Given the description of an element on the screen output the (x, y) to click on. 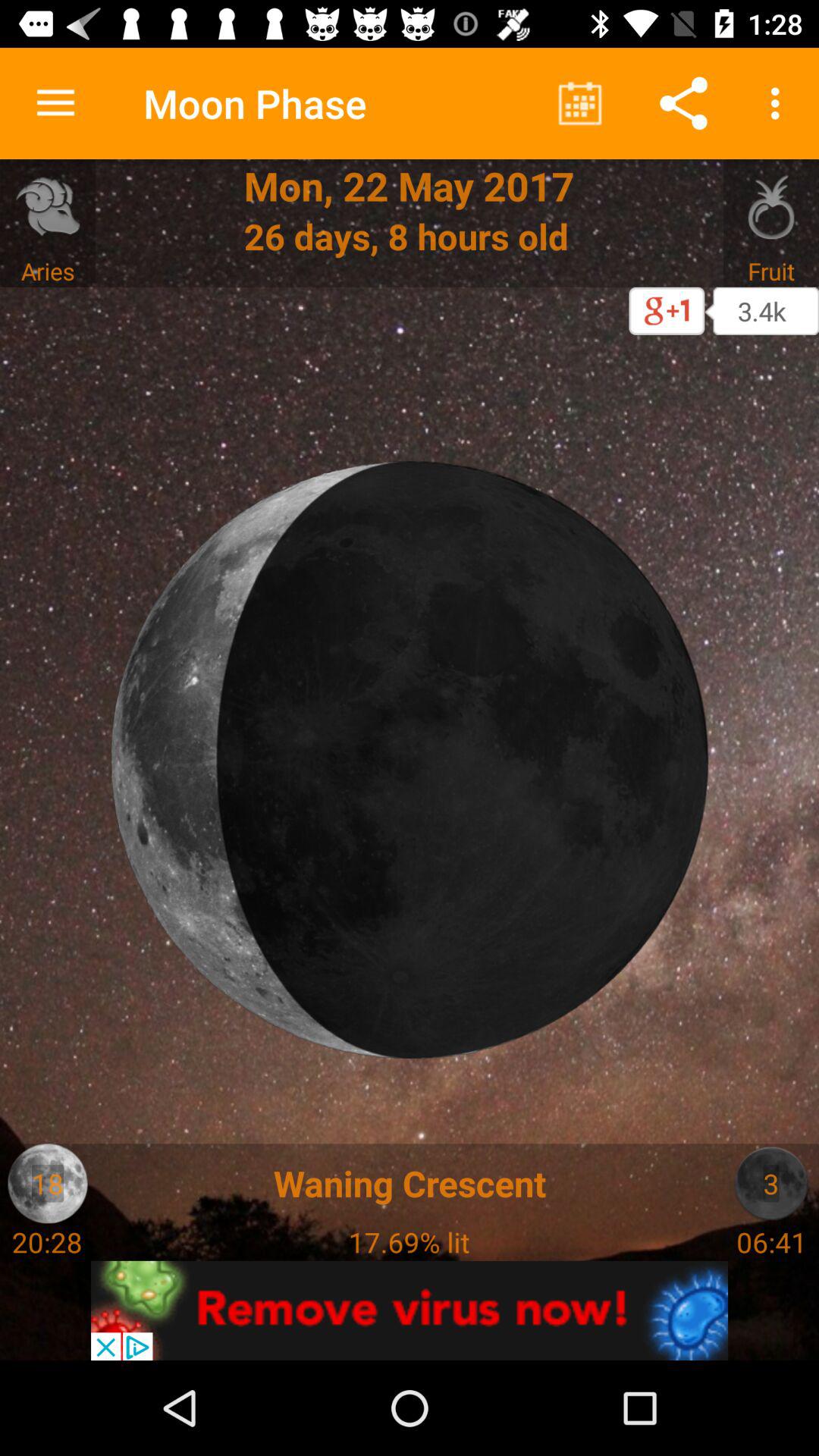
select side (771, 1183)
